Given the description of an element on the screen output the (x, y) to click on. 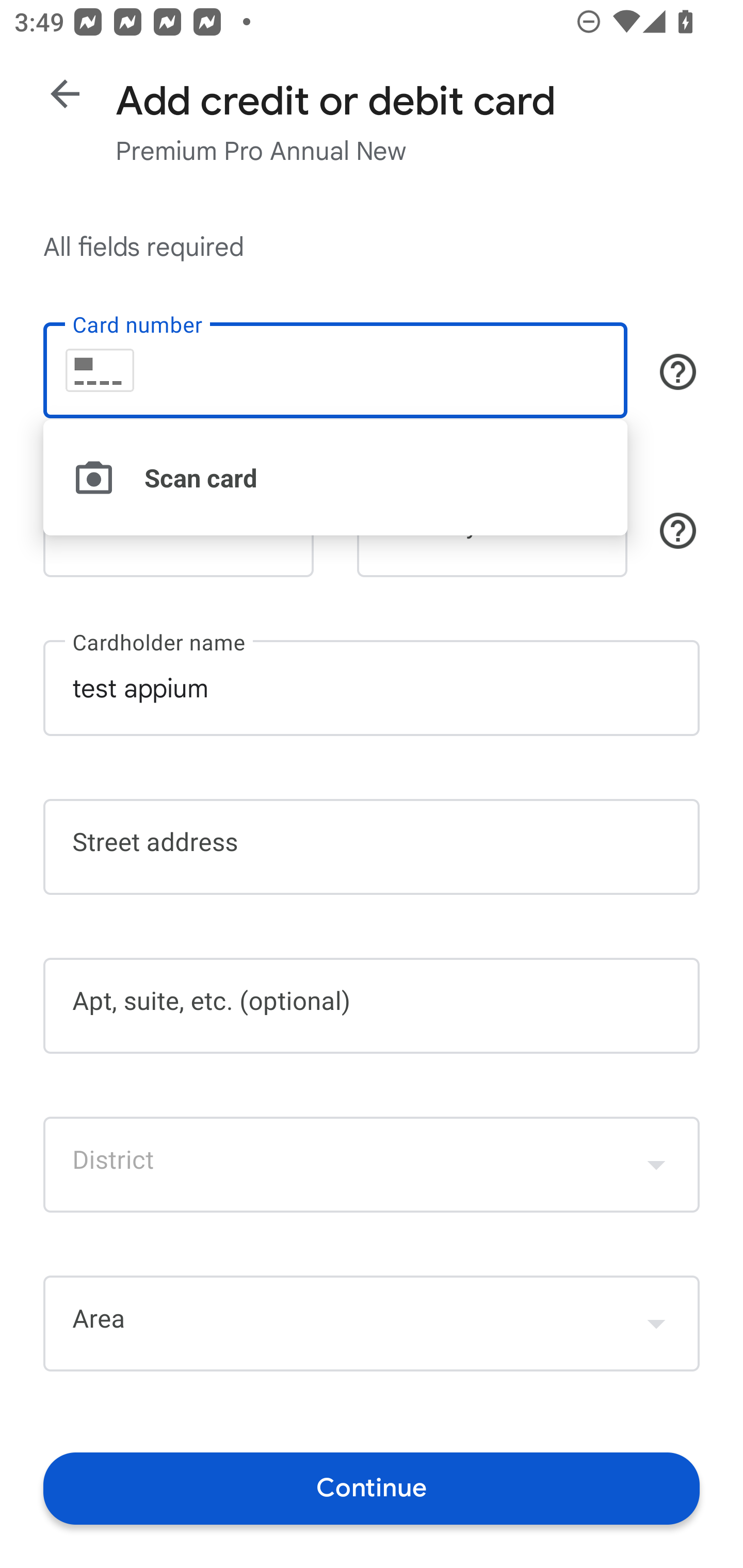
Back (64, 93)
Card number (335, 370)
Button, shows cards that are accepted for payment (677, 371)
Security code help (677, 530)
test appium (371, 687)
Street address (371, 847)
Apt, suite, etc. (optional) (371, 1005)
District (371, 1164)
Show dropdown menu (655, 1164)
Area (371, 1323)
Show dropdown menu (655, 1323)
Continue (371, 1487)
